Given the description of an element on the screen output the (x, y) to click on. 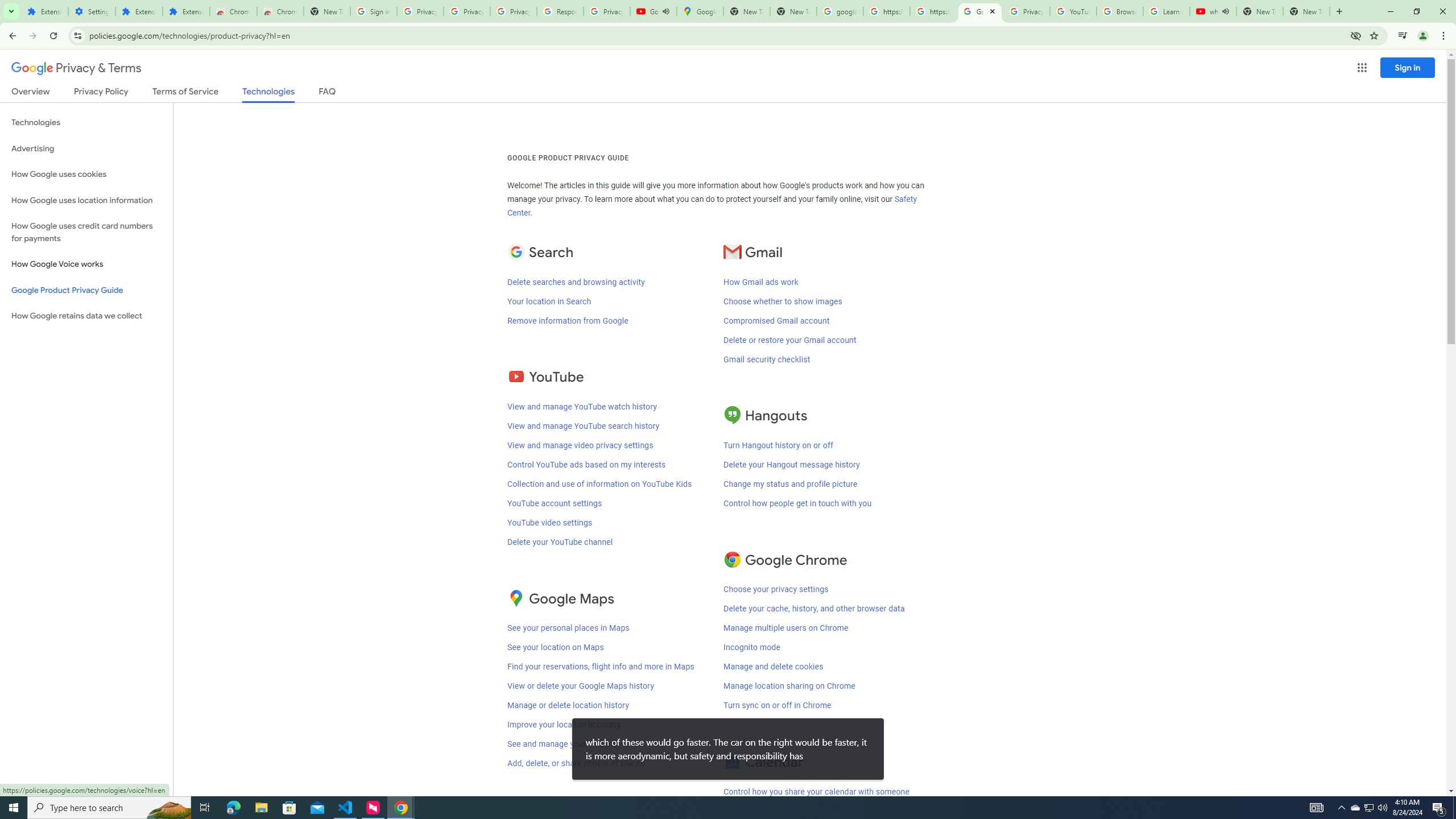
Change my status and profile picture (790, 483)
View and manage YouTube watch history (582, 406)
View and manage video privacy settings (579, 445)
Browse Chrome as a guest - Computer - Google Chrome Help (1120, 11)
Control YouTube ads based on my interests (585, 464)
View and manage YouTube search history (582, 425)
See and manage your timeline (561, 744)
Choose your privacy settings (775, 589)
View or delete your Google Maps history (579, 686)
